Given the description of an element on the screen output the (x, y) to click on. 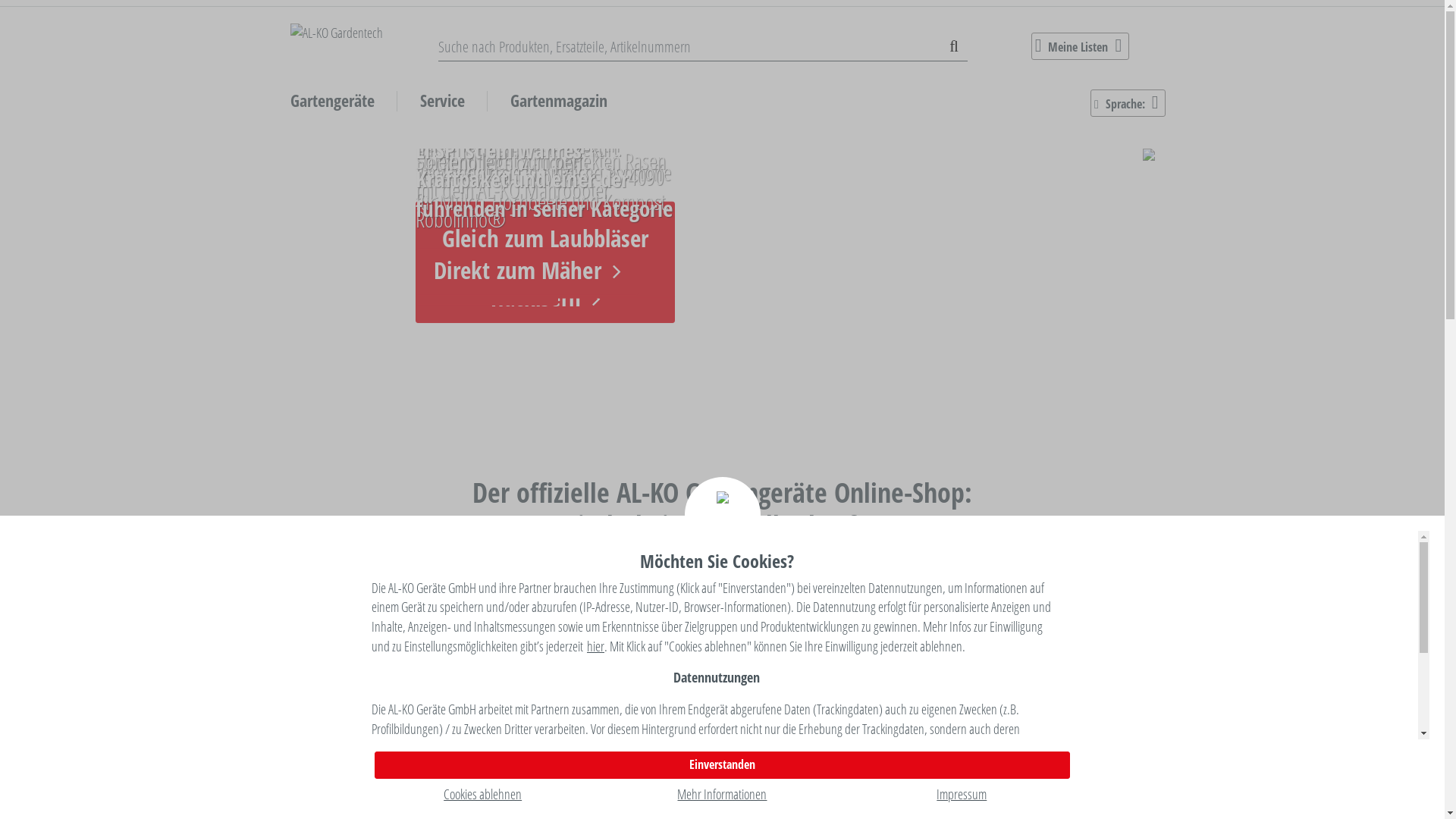
Alle Infos Element type: text (648, 641)
Gartenmagazin Element type: text (558, 99)
AL-KO Gardentech Element type: hover (363, 33)
Einverstanden Element type: text (722, 764)
Ersatzteilverkauf online | AL-KO Orginal-Ersatzteile Element type: hover (849, 783)
hier Element type: text (595, 646)
Suchen Element type: hover (953, 46)
Sprache: Element type: text (1128, 102)
Jetzt informieren Element type: text (1076, 641)
Smart Gardening | AL-KO Intelligente Rasenpflege Element type: hover (404, 595)
Service Element type: text (441, 99)
Cookies ablehnen Element type: text (482, 793)
Meine Listen Element type: text (1080, 45)
